Given the description of an element on the screen output the (x, y) to click on. 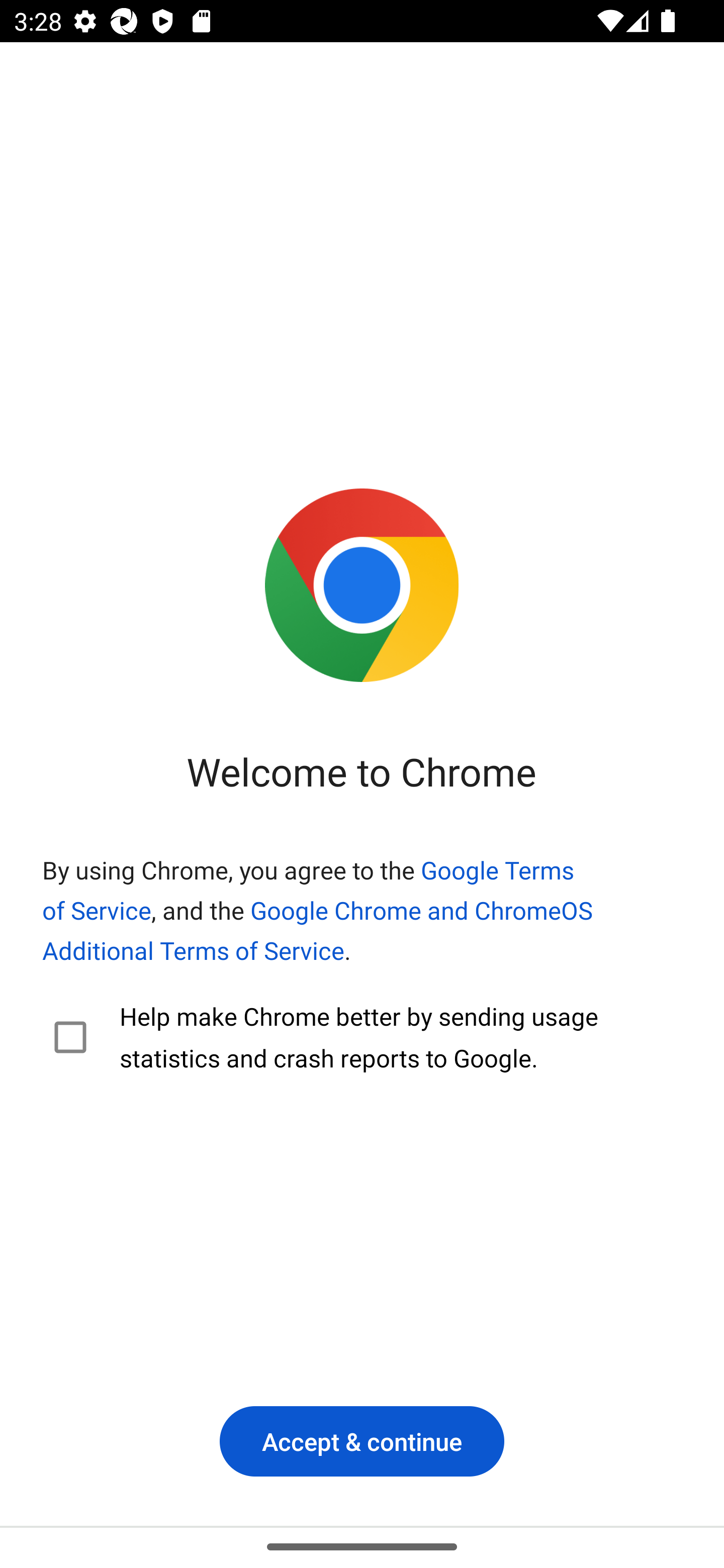
Accept & continue (361, 1440)
